Given the description of an element on the screen output the (x, y) to click on. 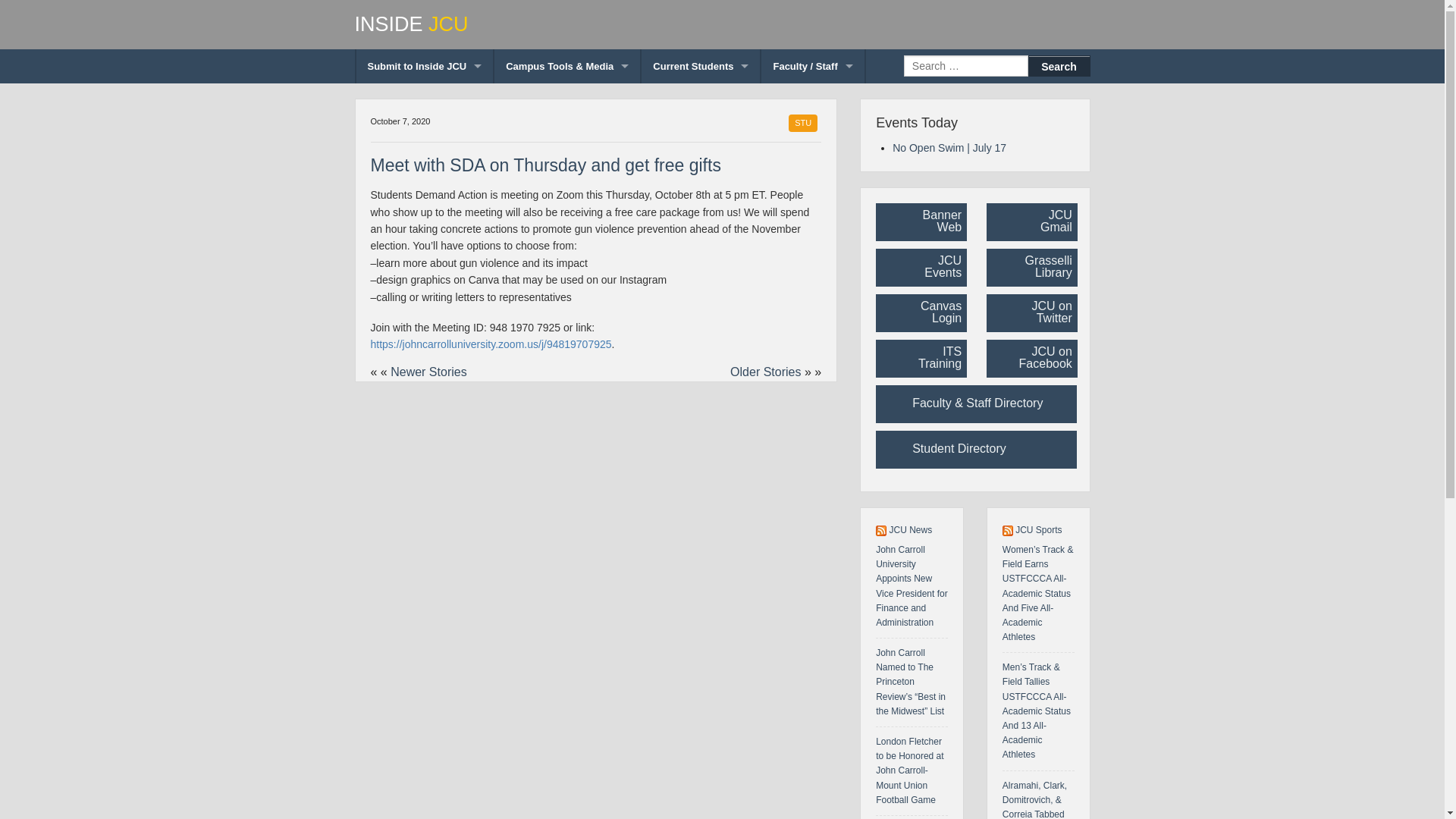
Search for: (965, 65)
Current Students (701, 66)
Search (1058, 65)
Submit to Inside JCU (424, 66)
Search (1058, 65)
INSIDE JCU (722, 24)
